Given the description of an element on the screen output the (x, y) to click on. 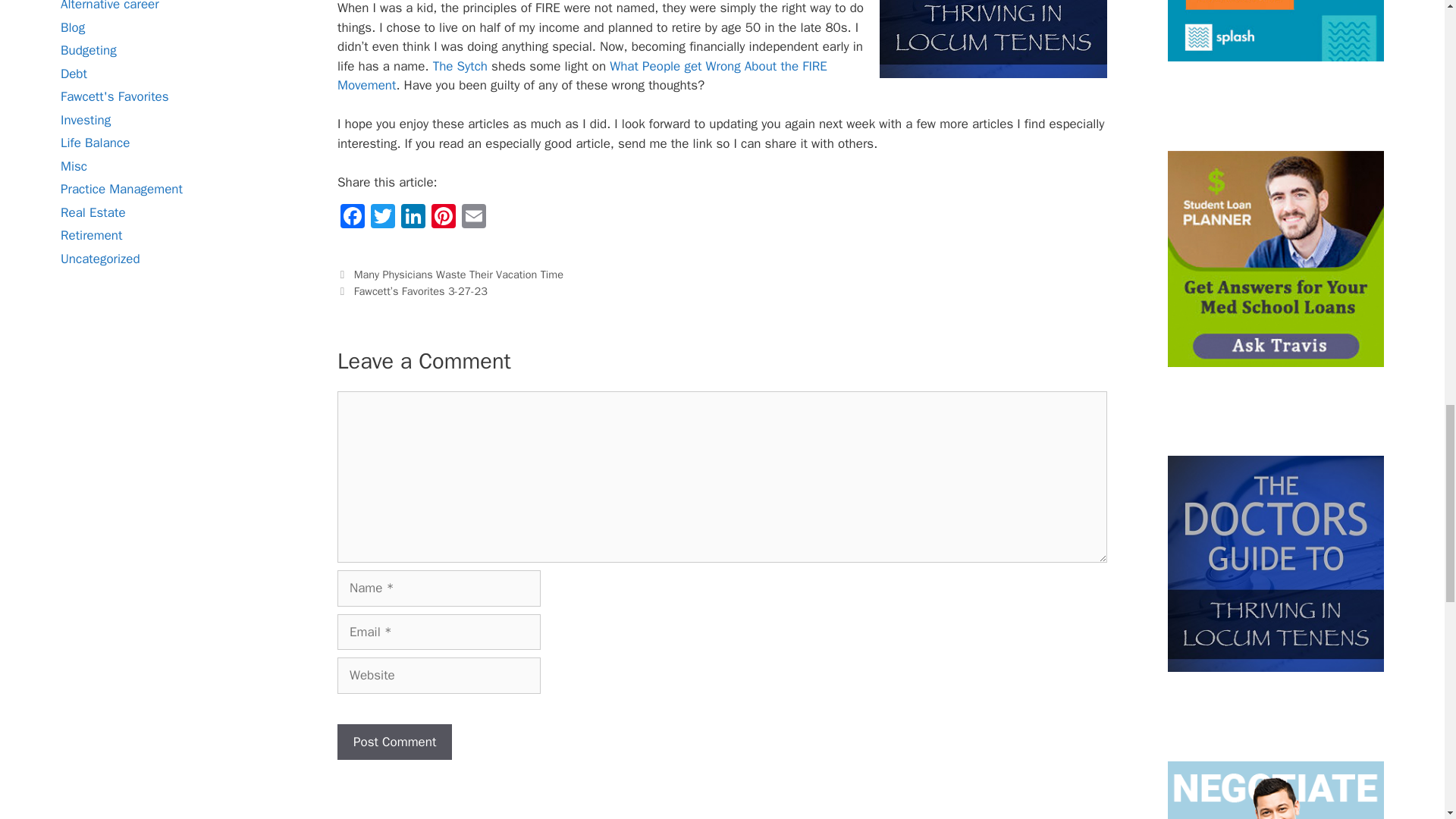
Twitter (382, 217)
LinkedIn (412, 217)
Post Comment (394, 741)
Email (473, 217)
Facebook (352, 217)
Pinterest (443, 217)
